Given the description of an element on the screen output the (x, y) to click on. 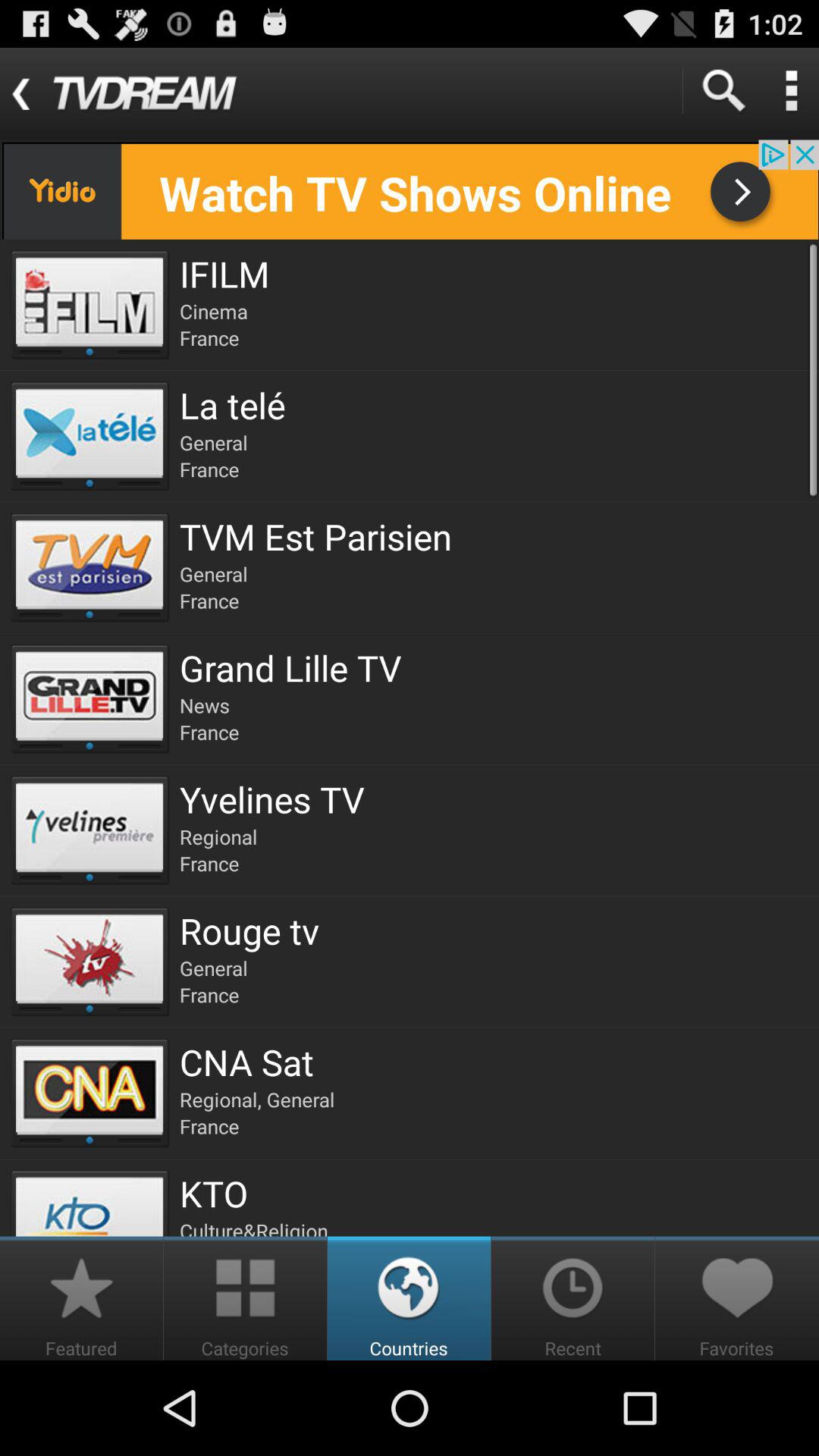
other details option (791, 90)
